Given the description of an element on the screen output the (x, y) to click on. 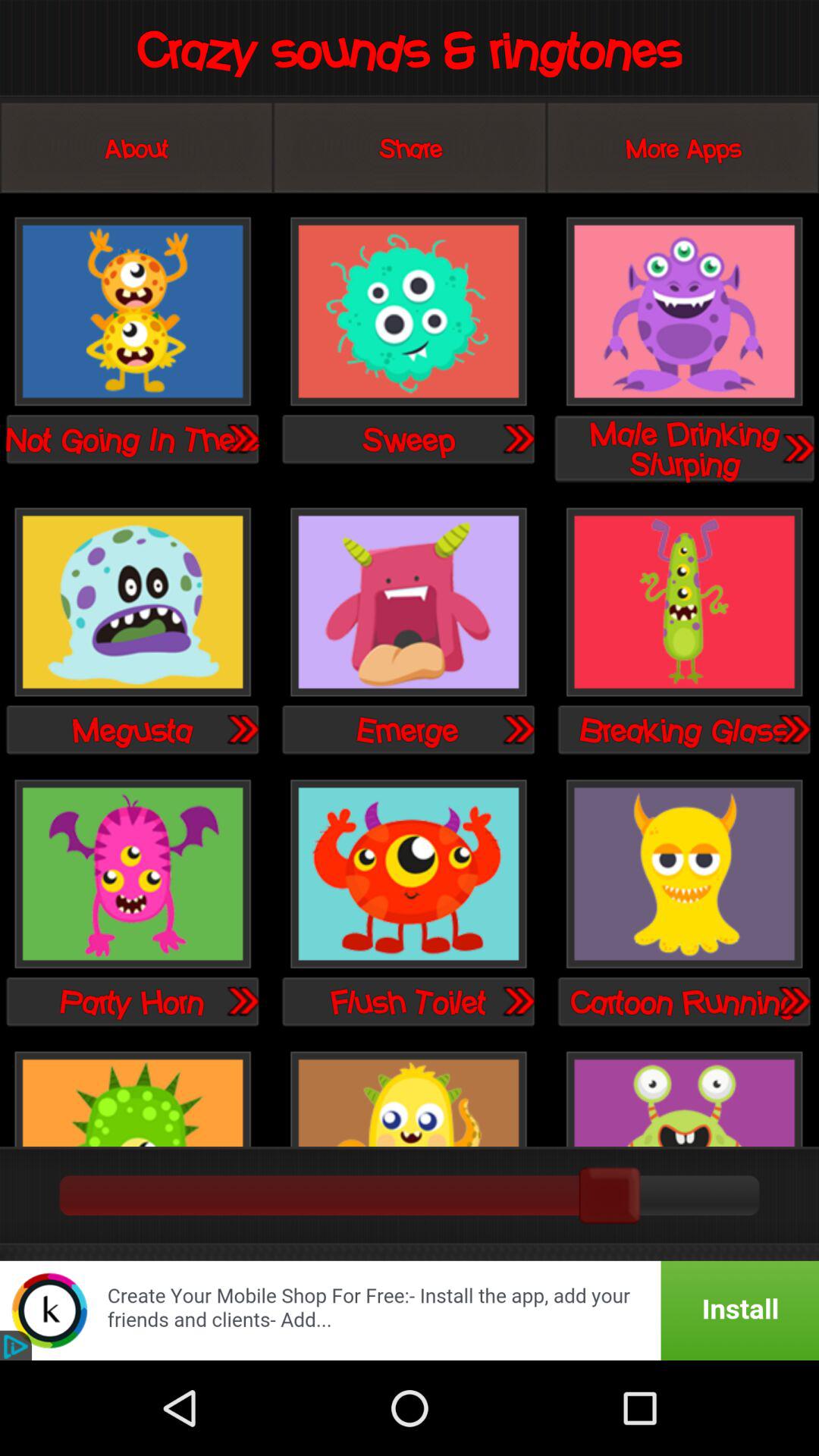
select option (408, 1096)
